Given the description of an element on the screen output the (x, y) to click on. 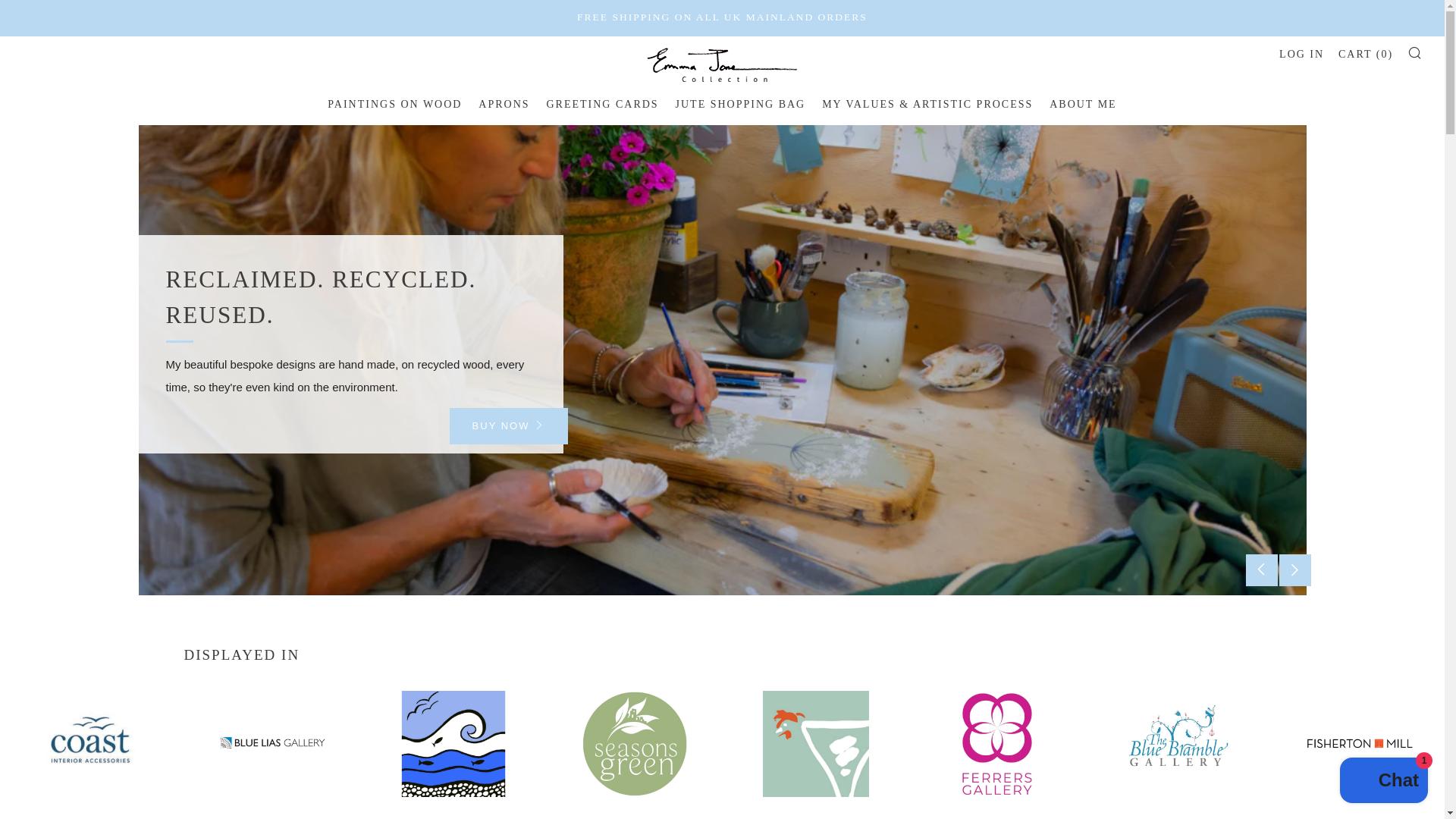
ABOUT ME (1082, 103)
LOG IN (1301, 53)
GREETING CARDS (602, 103)
PAINTINGS ON WOOD (394, 103)
BUY NOW (508, 425)
Shopify online store chat (1383, 781)
JUTE SHOPPING BAG (740, 103)
SEARCH (1414, 51)
APRONS (504, 103)
